Given the description of an element on the screen output the (x, y) to click on. 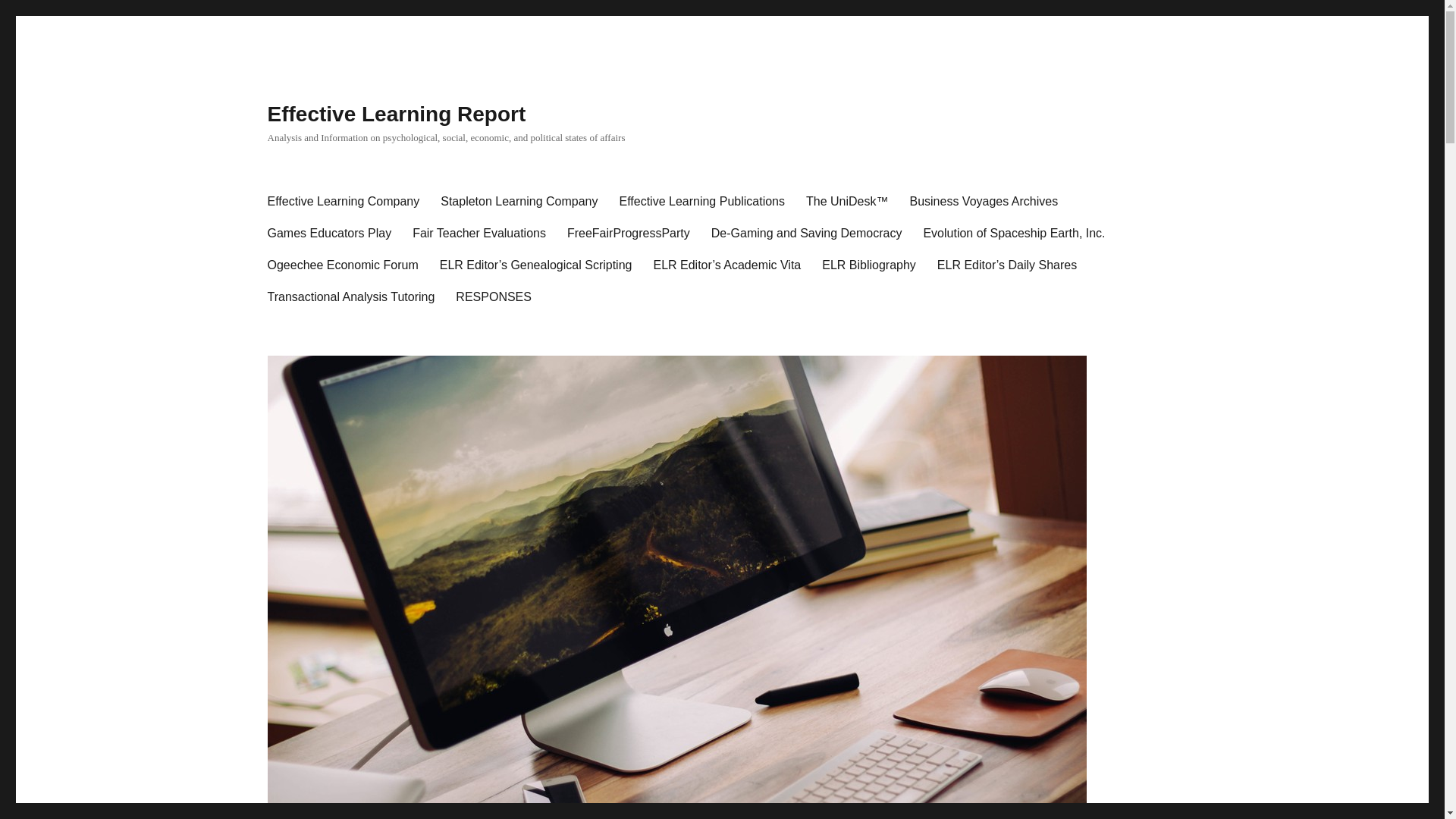
Stapleton Learning Company (518, 201)
Business Voyages Archives (983, 201)
ELR Bibliography (868, 265)
Transactional Analysis Tutoring (350, 296)
Effective Learning Report (395, 114)
Effective Learning Company (342, 201)
Evolution of Spaceship Earth, Inc. (1013, 233)
Fair Teacher Evaluations (478, 233)
FreeFairProgressParty (628, 233)
Ogeechee Economic Forum (342, 265)
